Given the description of an element on the screen output the (x, y) to click on. 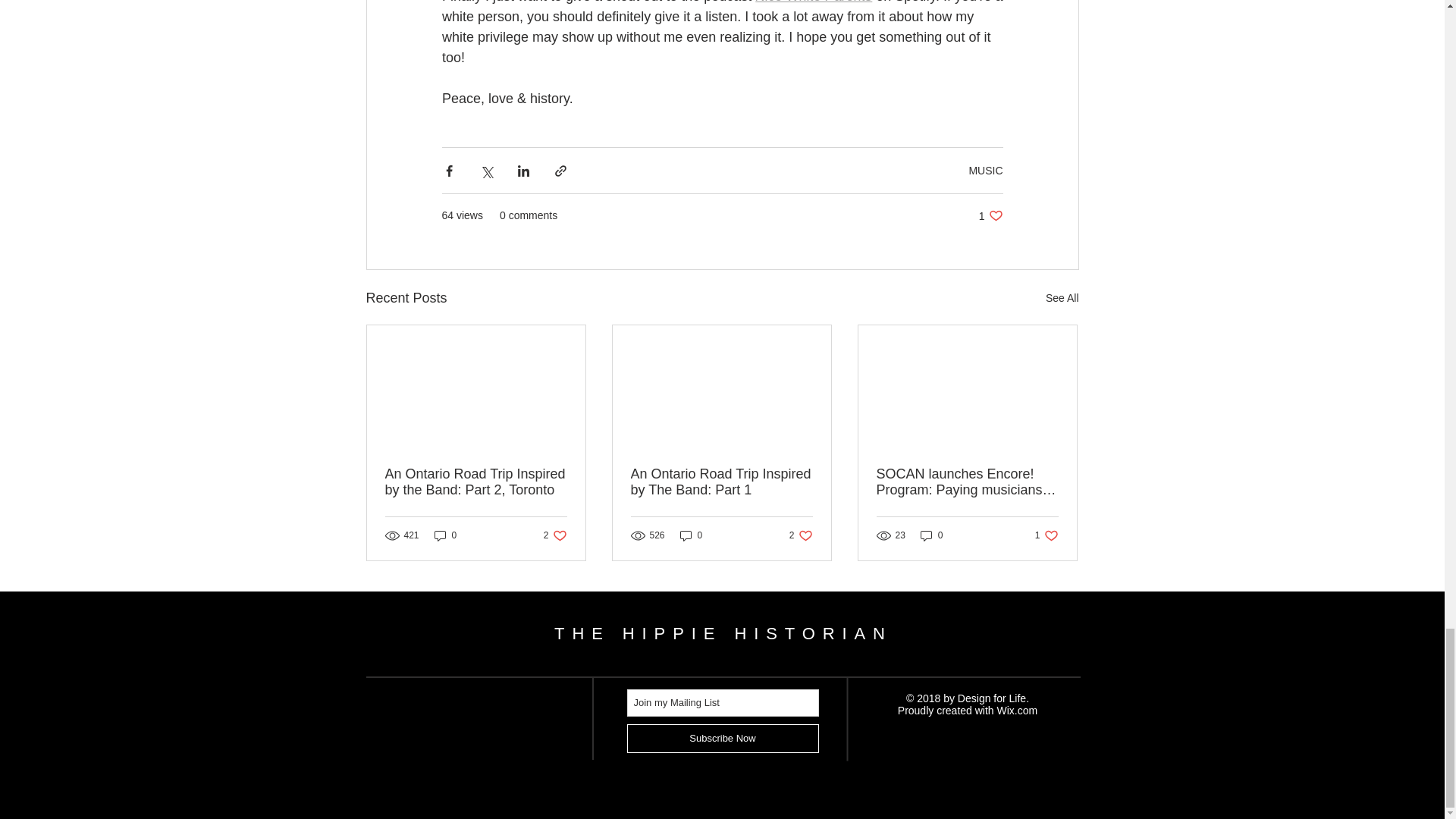
Nice White Parents (813, 2)
Wix.com (990, 215)
See All (800, 535)
Subscribe Now (1017, 710)
THE HIPPIE HISTORIAN (555, 535)
0 (1061, 298)
MUSIC (722, 737)
An Ontario Road Trip Inspired by The Band: Part 1 (1046, 535)
0 (723, 633)
0 (931, 535)
